Given the description of an element on the screen output the (x, y) to click on. 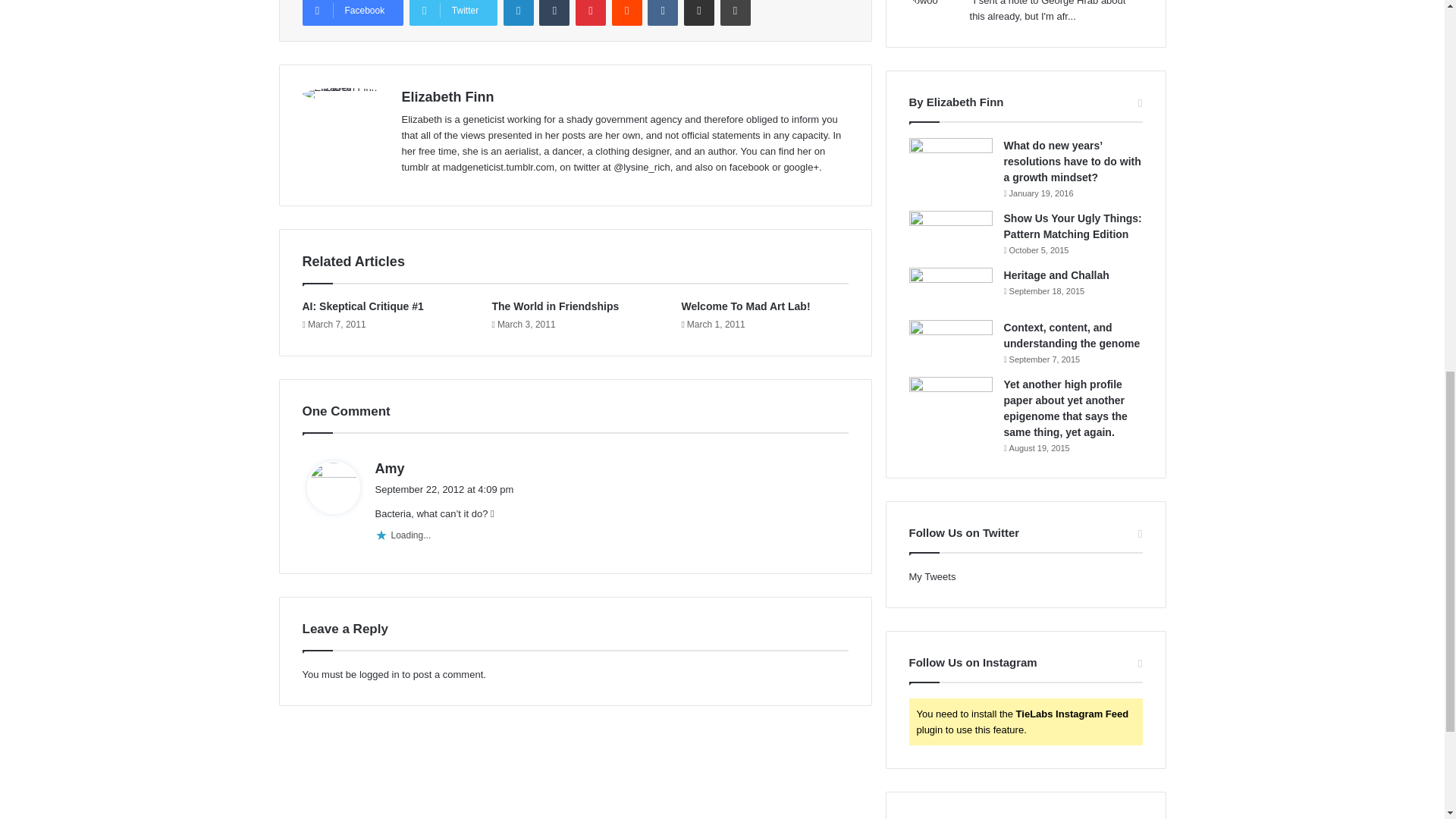
Tumblr (553, 12)
Twitter (453, 12)
Facebook (352, 12)
Pinterest (590, 12)
LinkedIn (518, 12)
